Given the description of an element on the screen output the (x, y) to click on. 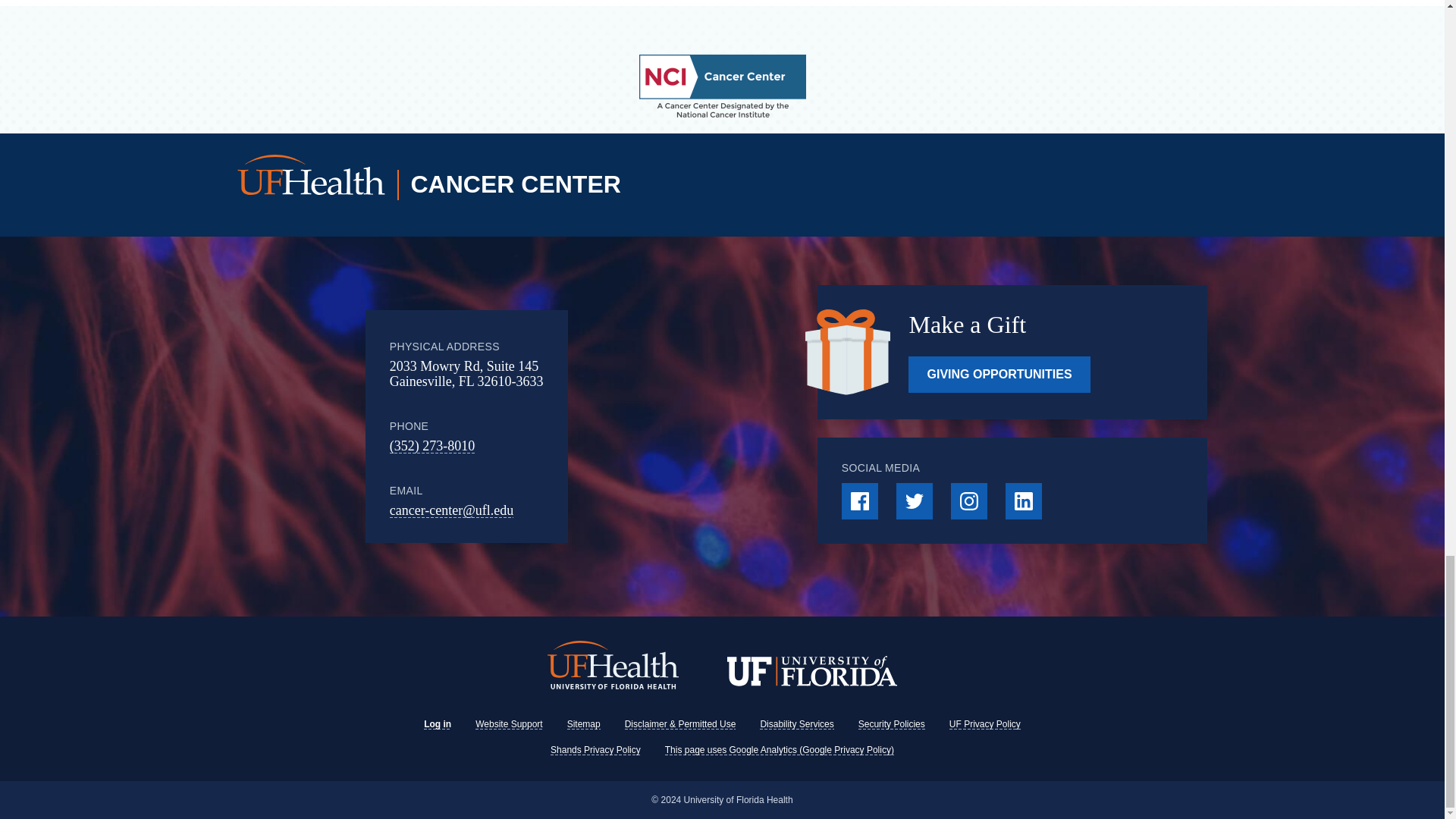
Security Policies (891, 724)
UF Privacy Policy (984, 724)
Website Support (509, 724)
Log in (437, 724)
Shands Privacy Policy (595, 749)
Sitemap (583, 724)
Disability Services (796, 724)
